Given the description of an element on the screen output the (x, y) to click on. 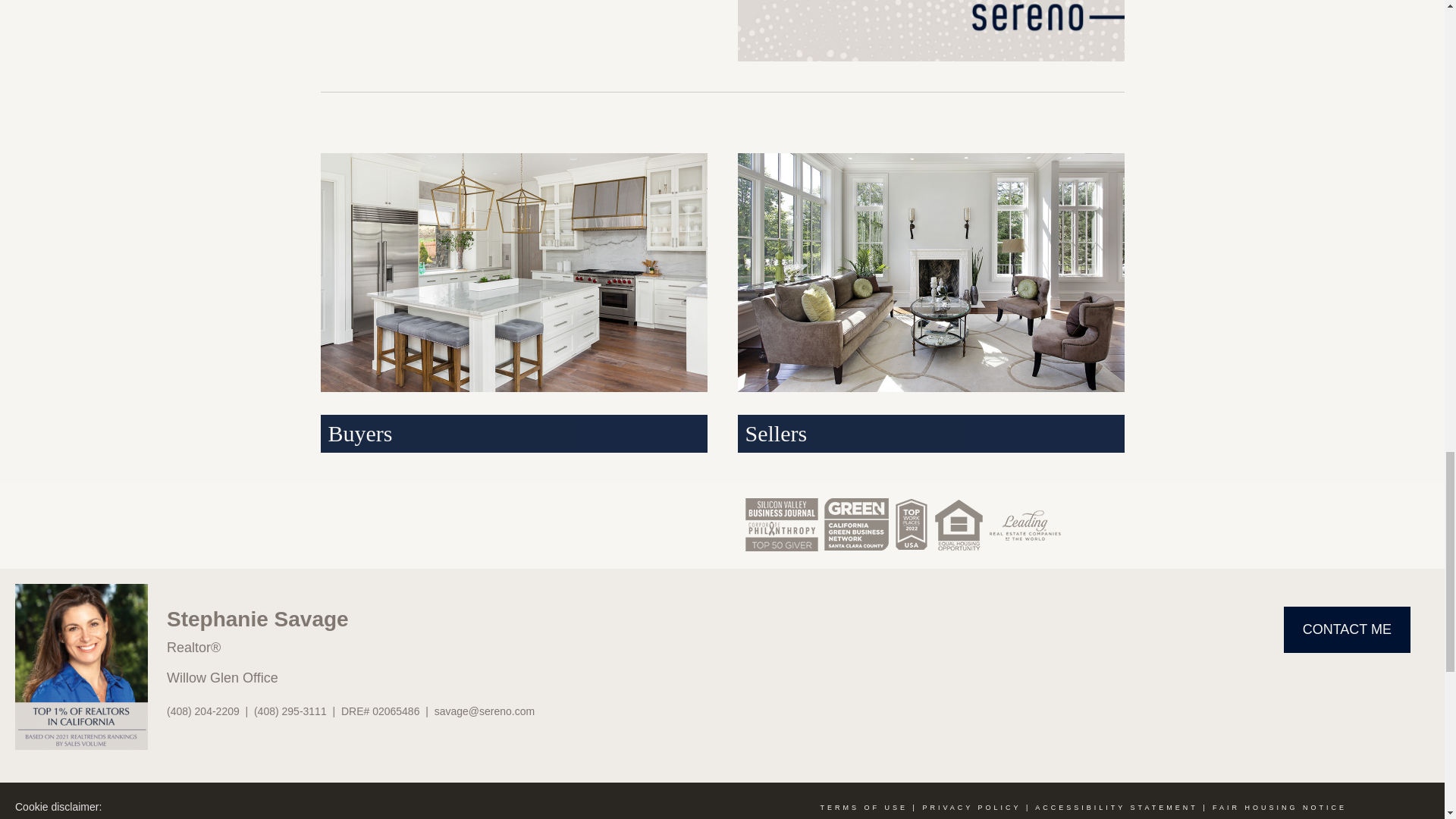
homepage-sellers (930, 272)
homepage-buyers (513, 272)
